Given the description of an element on the screen output the (x, y) to click on. 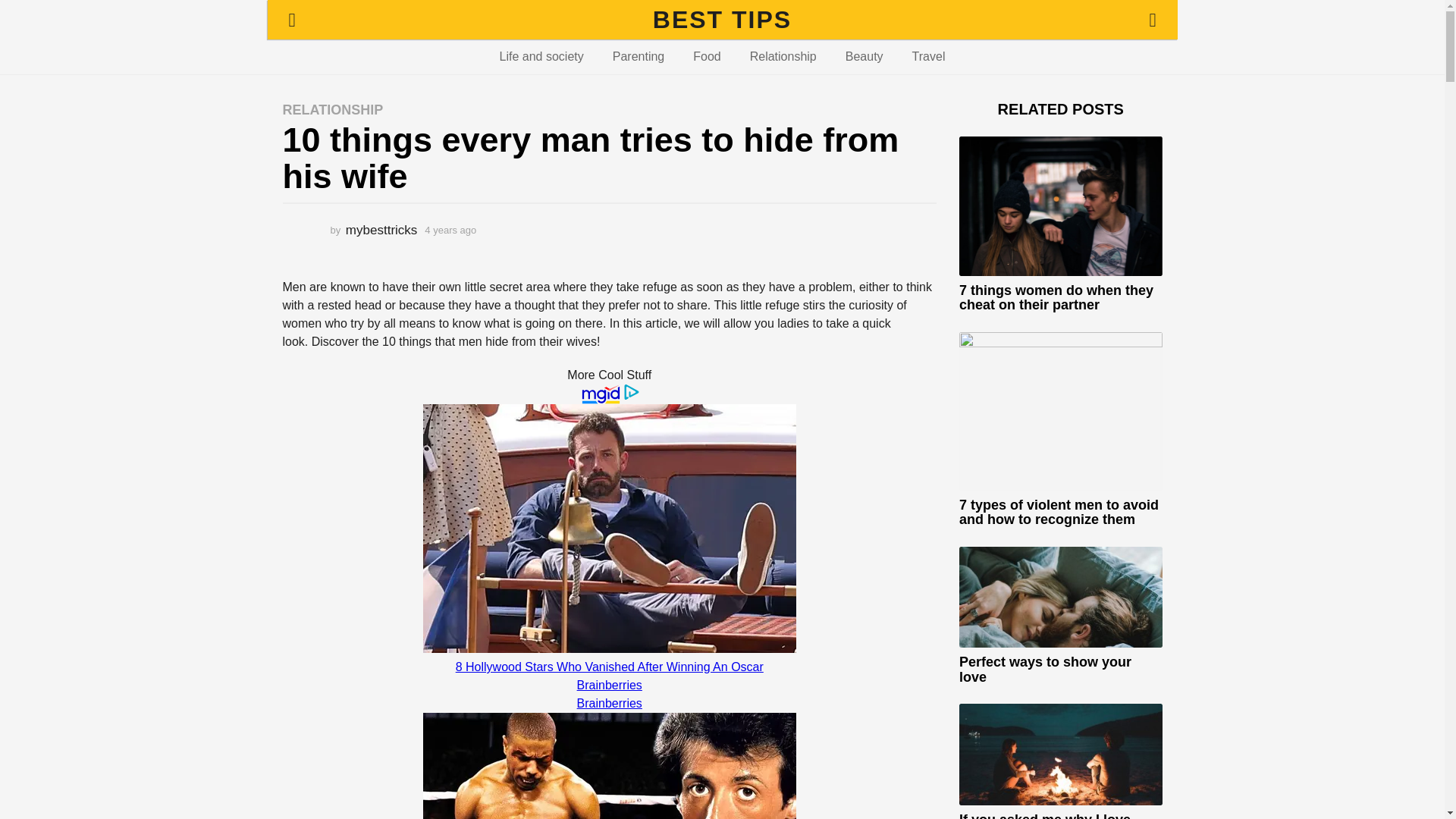
Beauty (864, 56)
BEST TIPS (722, 19)
mybesttricks (381, 229)
Relationship (783, 56)
Food (706, 56)
Travel (928, 56)
Food (706, 56)
Parenting (639, 56)
RELATIONSHIP (332, 109)
Travel (928, 56)
Life and society (541, 56)
Beauty (864, 56)
Relationship (783, 56)
Life and society (541, 56)
Parenting (639, 56)
